Given the description of an element on the screen output the (x, y) to click on. 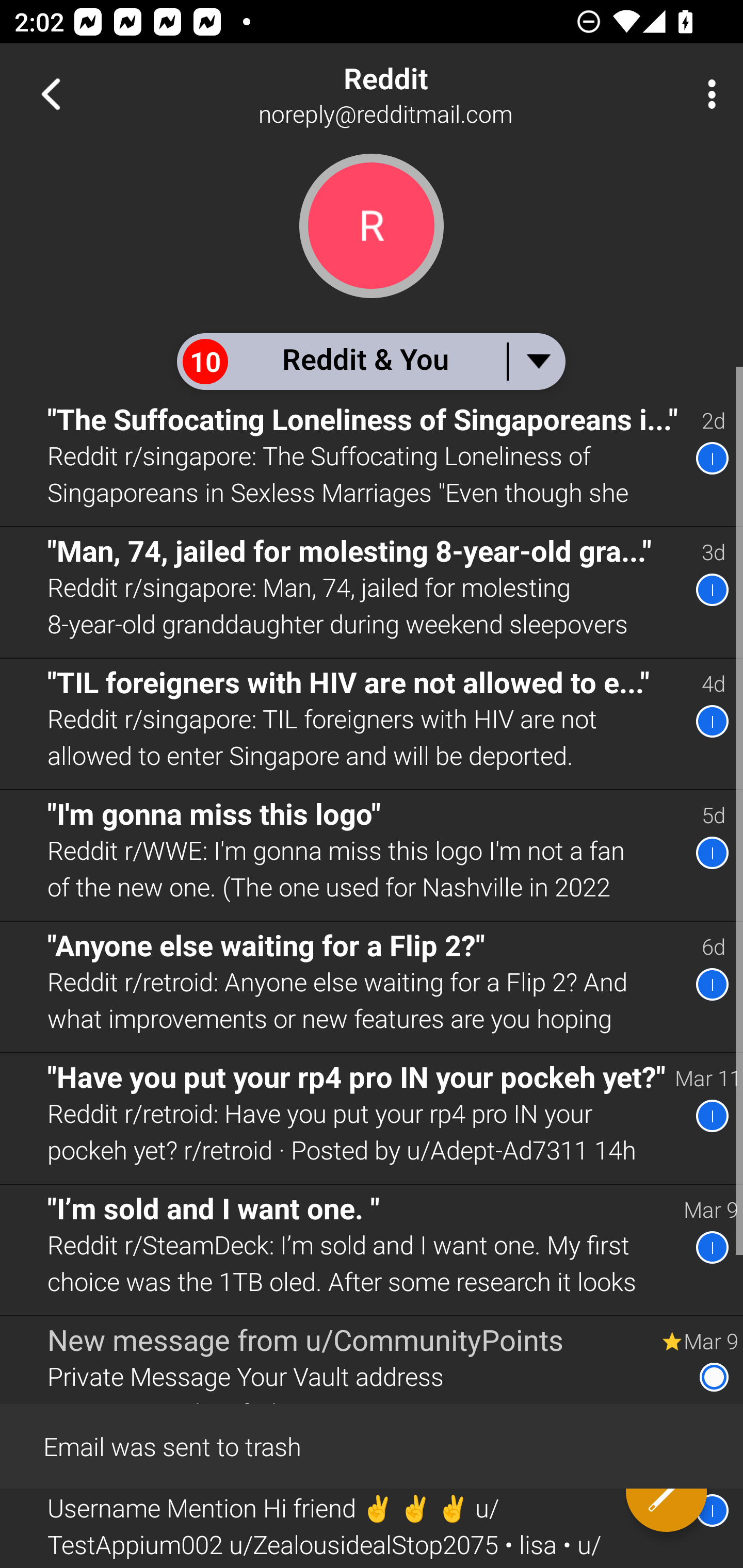
Navigate up (50, 93)
Reddit noreply@redditmail.com (436, 93)
More Options (706, 93)
10 Reddit & You (370, 361)
Email was sent to trash (371, 1445)
